Given the description of an element on the screen output the (x, y) to click on. 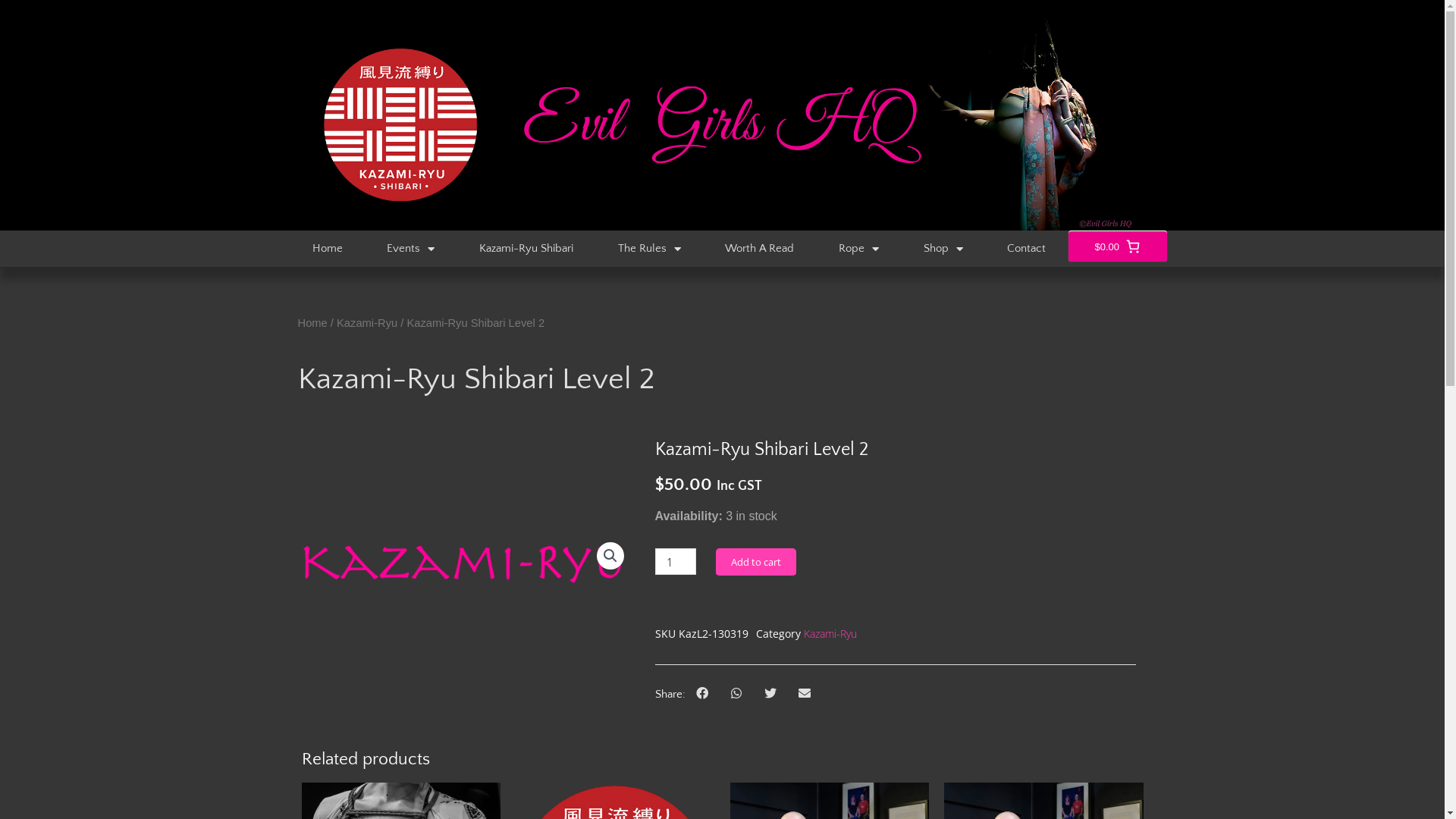
Home Element type: text (326, 248)
Worth A Read Element type: text (759, 248)
Kazami-Ryu Element type: text (829, 633)
Contact Element type: text (1026, 248)
Home Element type: text (311, 322)
Kazami-Ryu Element type: text (366, 322)
Add to cart Element type: text (755, 562)
Shop Element type: text (942, 248)
Rope Element type: text (858, 248)
$0.00 Element type: text (1116, 245)
The Rules Element type: text (648, 248)
Kazami-Ryu Shibari Element type: text (526, 248)
Kazami-Ryu Image Element type: hover (462, 562)
Events Element type: text (410, 248)
